Given the description of an element on the screen output the (x, y) to click on. 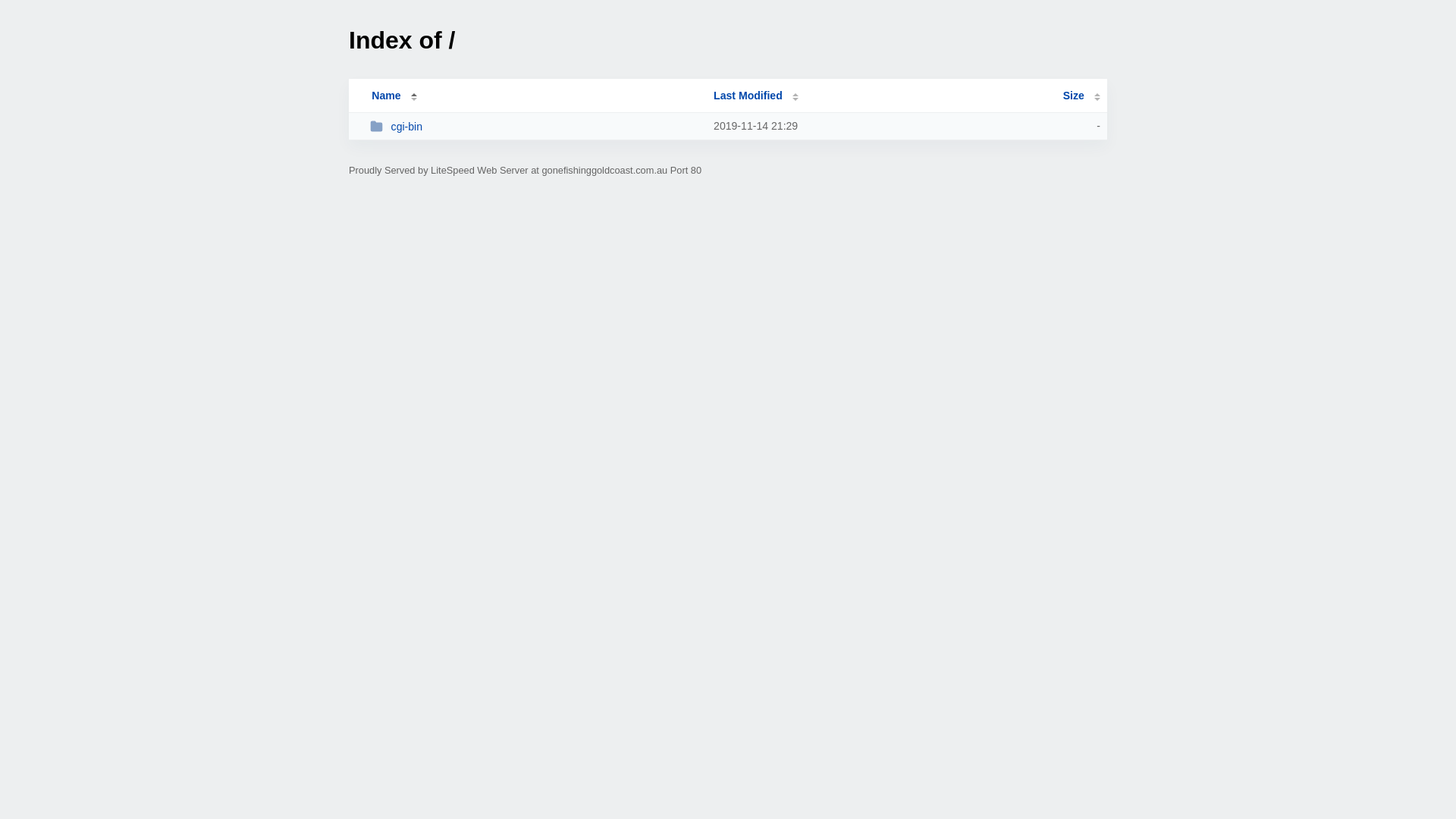
Size Element type: text (1081, 95)
Last Modified Element type: text (755, 95)
Name Element type: text (385, 95)
cgi-bin Element type: text (534, 125)
